Given the description of an element on the screen output the (x, y) to click on. 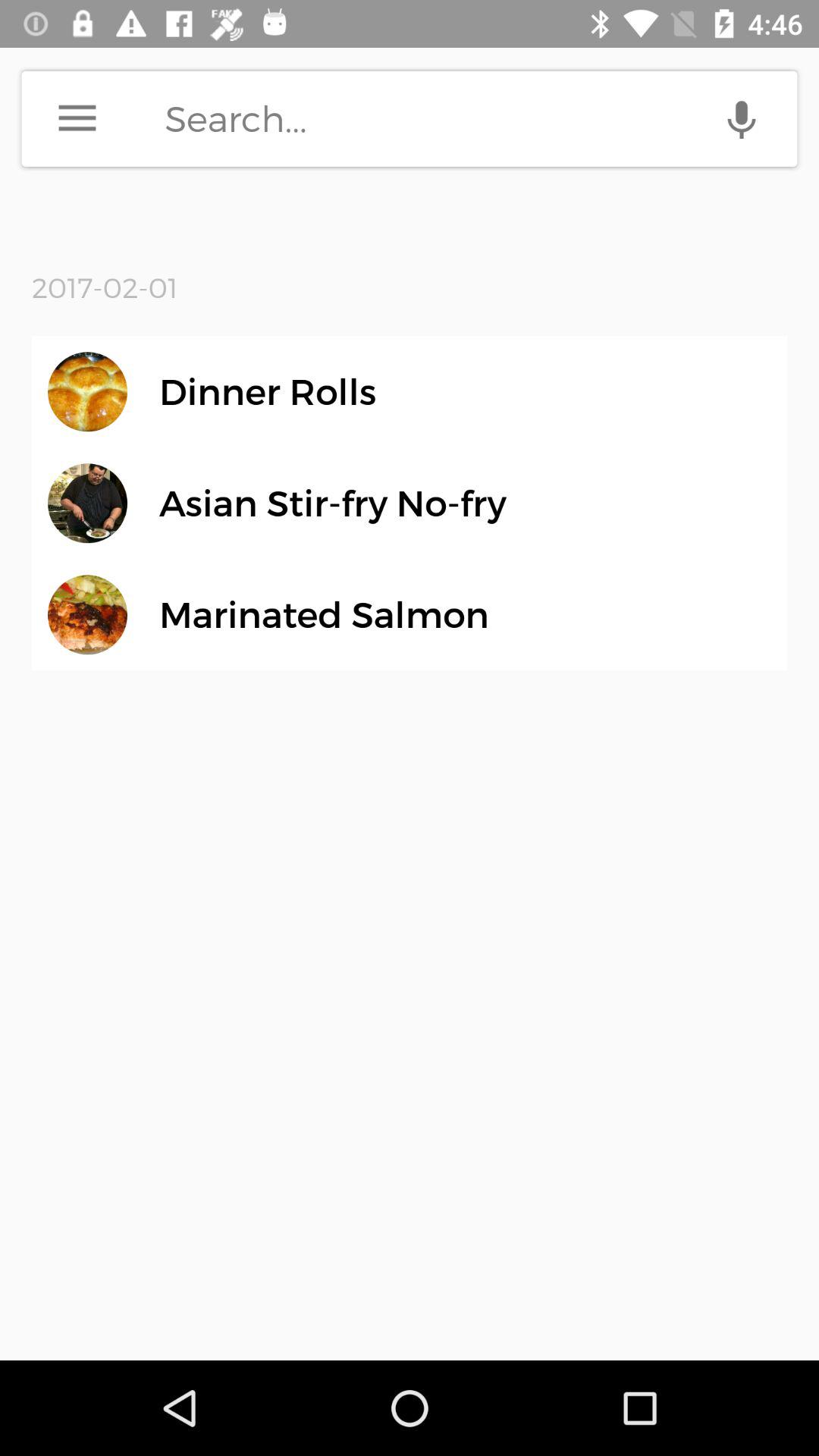
open the icon above the 2017-02-01 (77, 118)
